Given the description of an element on the screen output the (x, y) to click on. 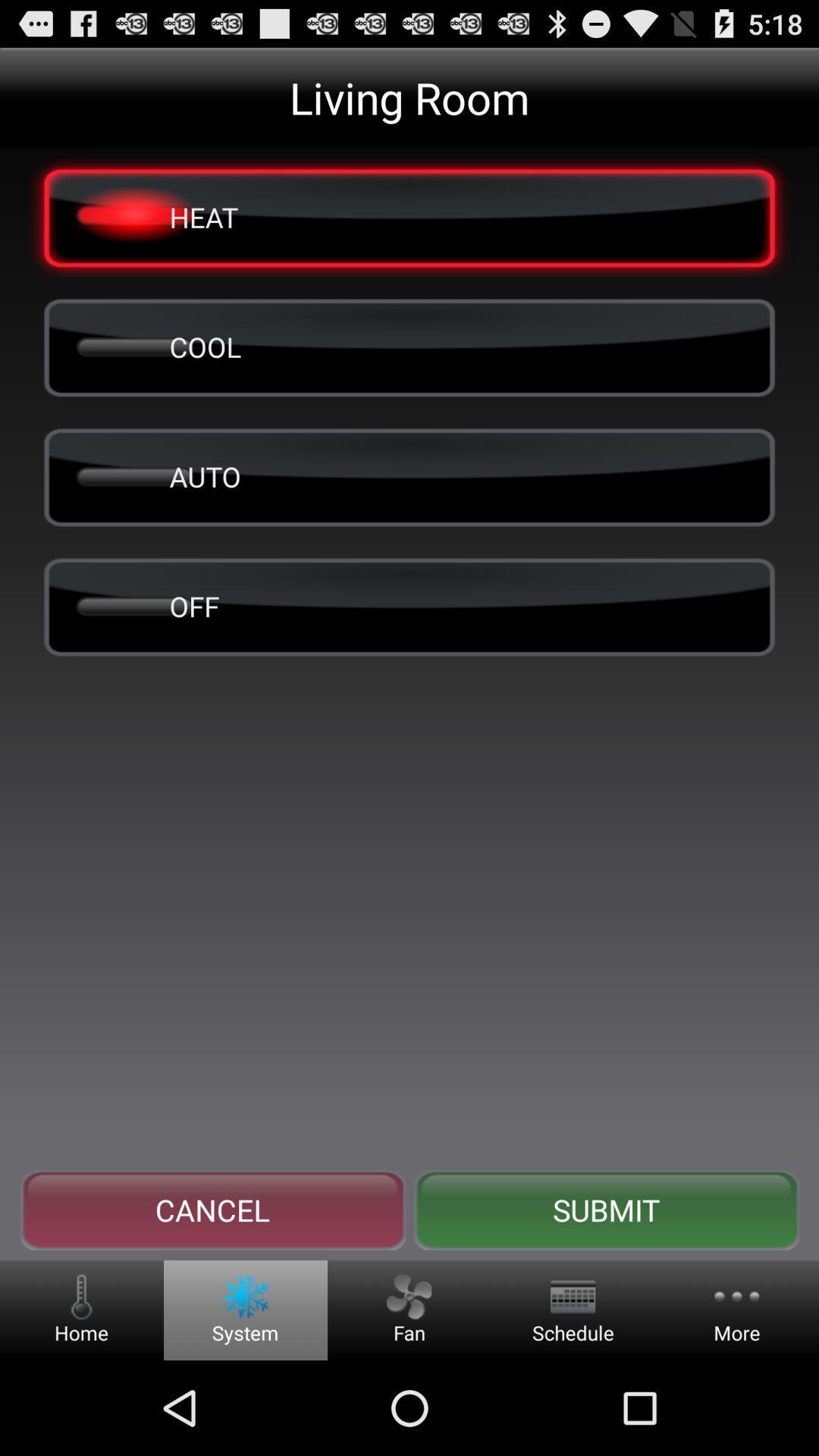
launch the icon below the auto item (409, 606)
